Given the description of an element on the screen output the (x, y) to click on. 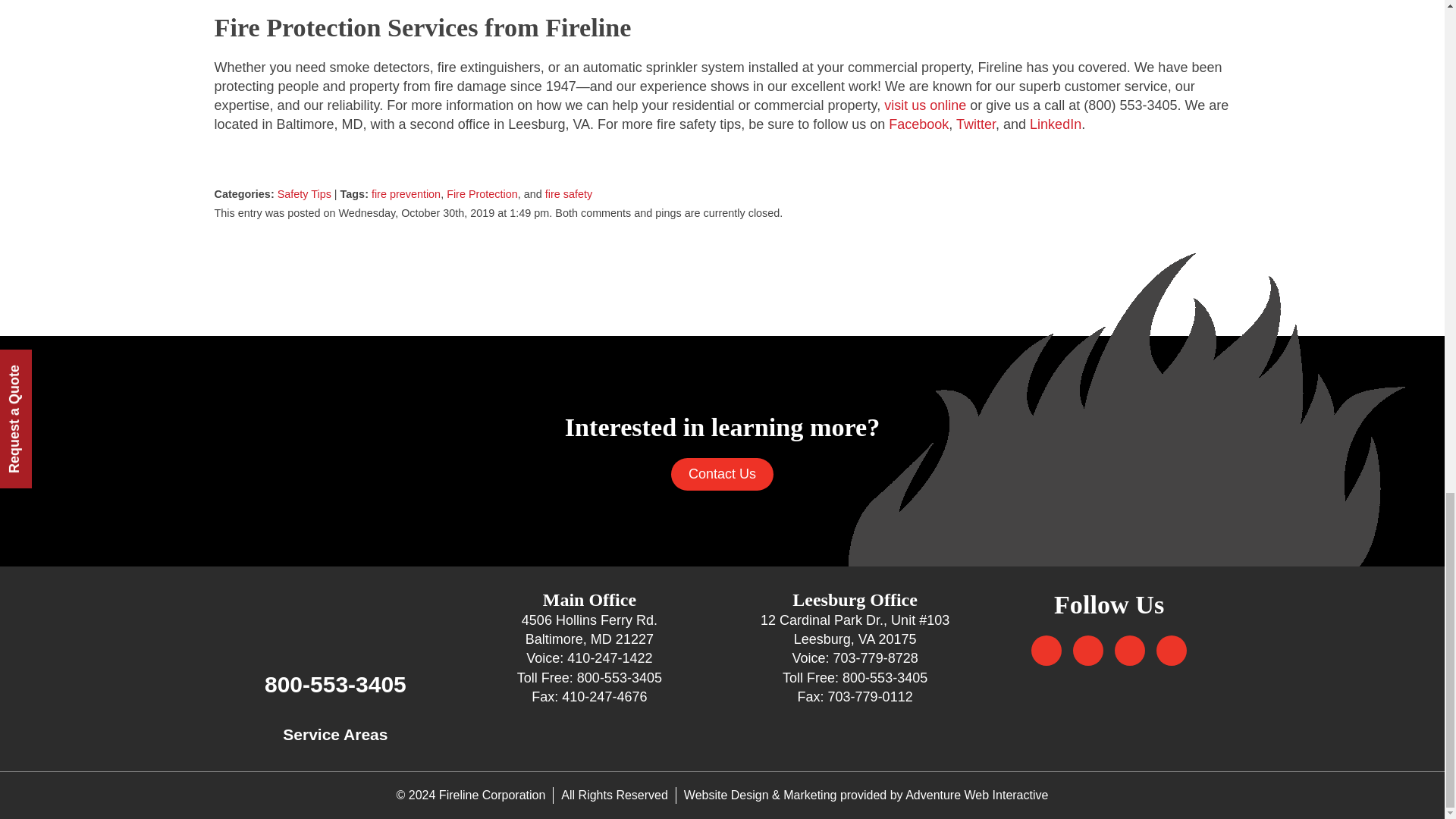
Fireline (335, 613)
